Given the description of an element on the screen output the (x, y) to click on. 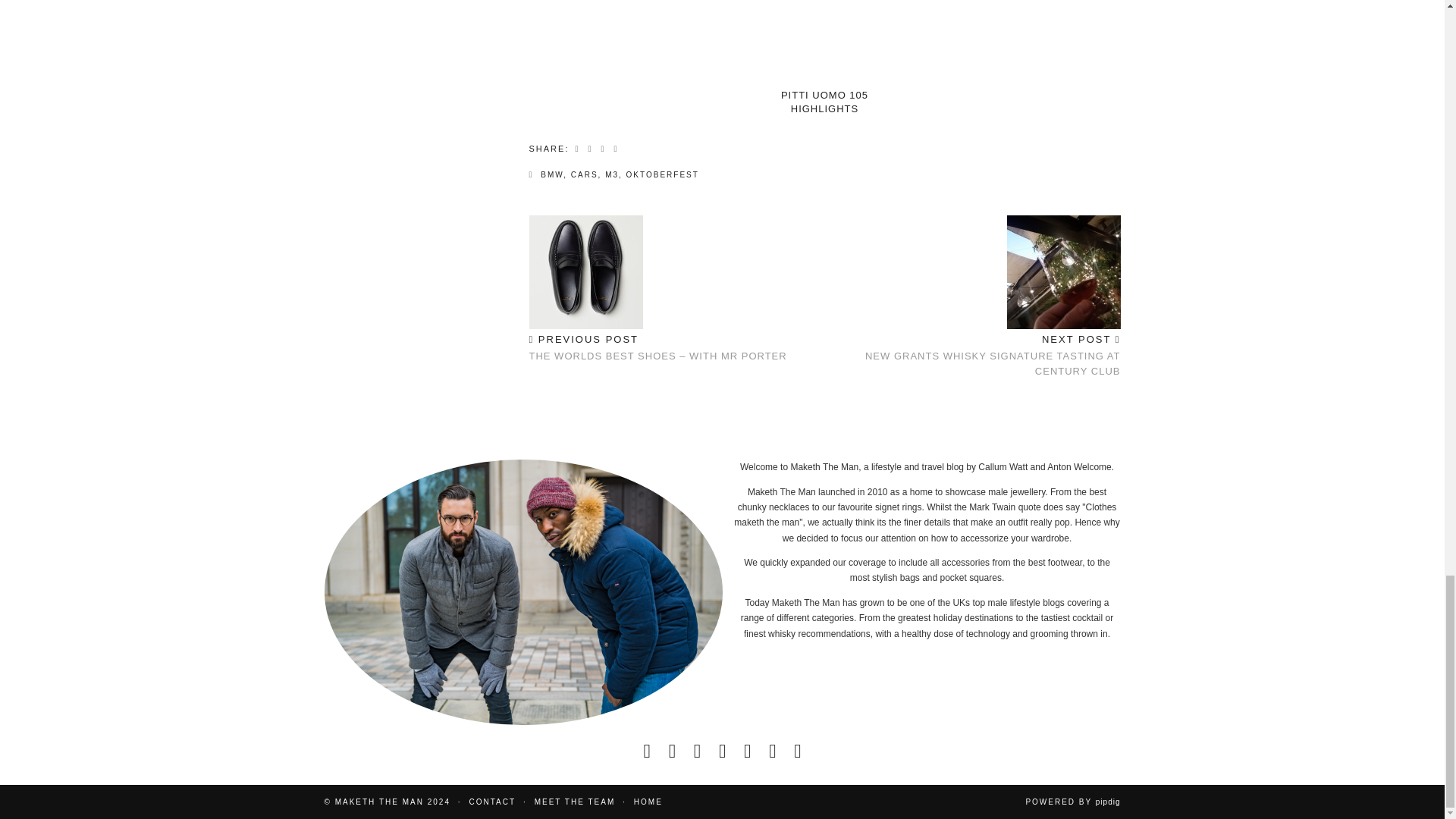
PITTI UOMO 105 HIGHLIGHTS (823, 101)
Pitti Uomo 105 Highlights (824, 42)
Pitti Uomo 105 Highlights (823, 101)
